Given the description of an element on the screen output the (x, y) to click on. 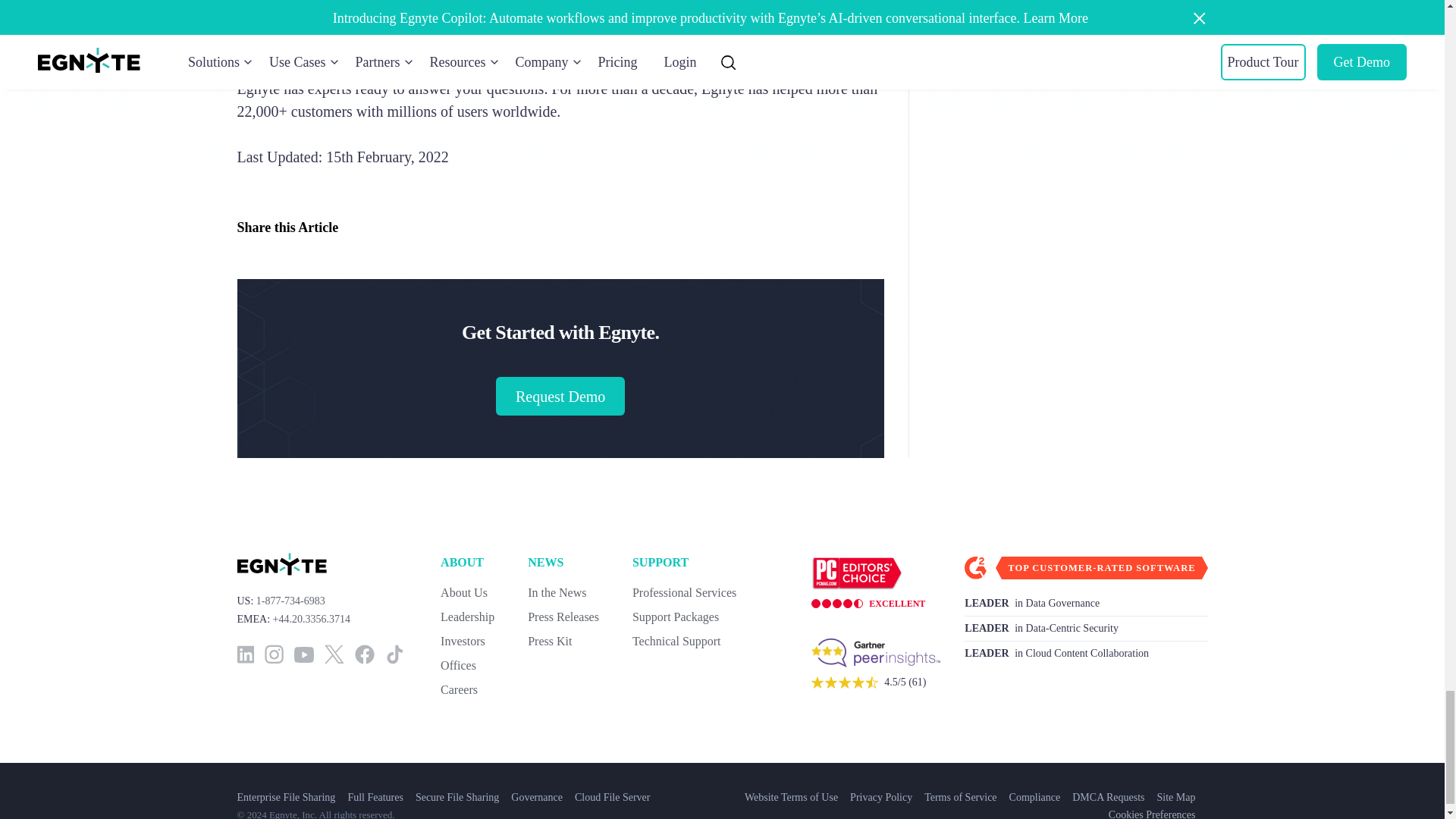
Share to Facebook (419, 227)
Share to X (389, 227)
Share to Linkedin (359, 227)
